Given the description of an element on the screen output the (x, y) to click on. 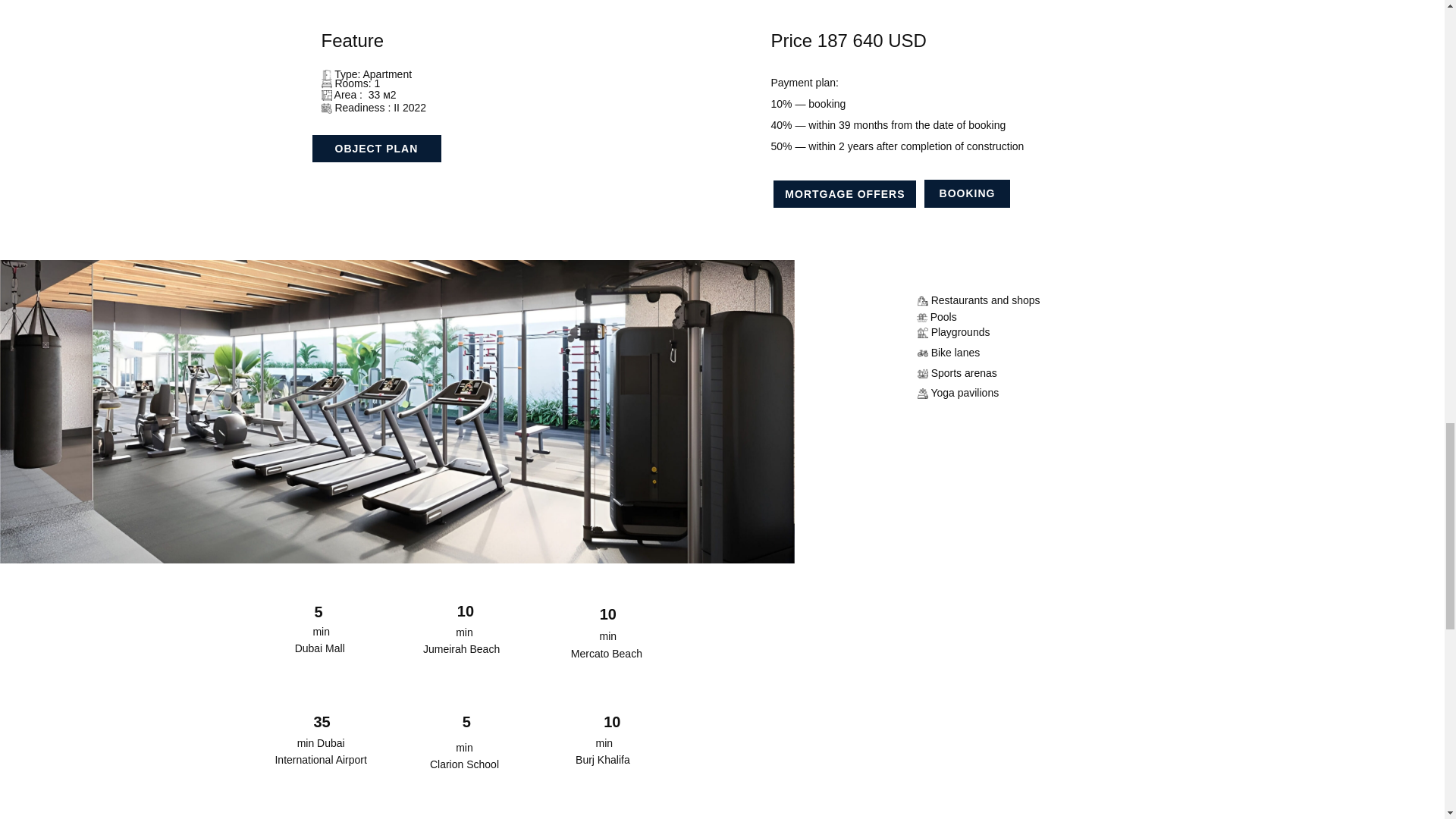
OBJECT PLAN (377, 148)
MORTGAGE OFFERS (844, 194)
BOOKING (967, 193)
